Given the description of an element on the screen output the (x, y) to click on. 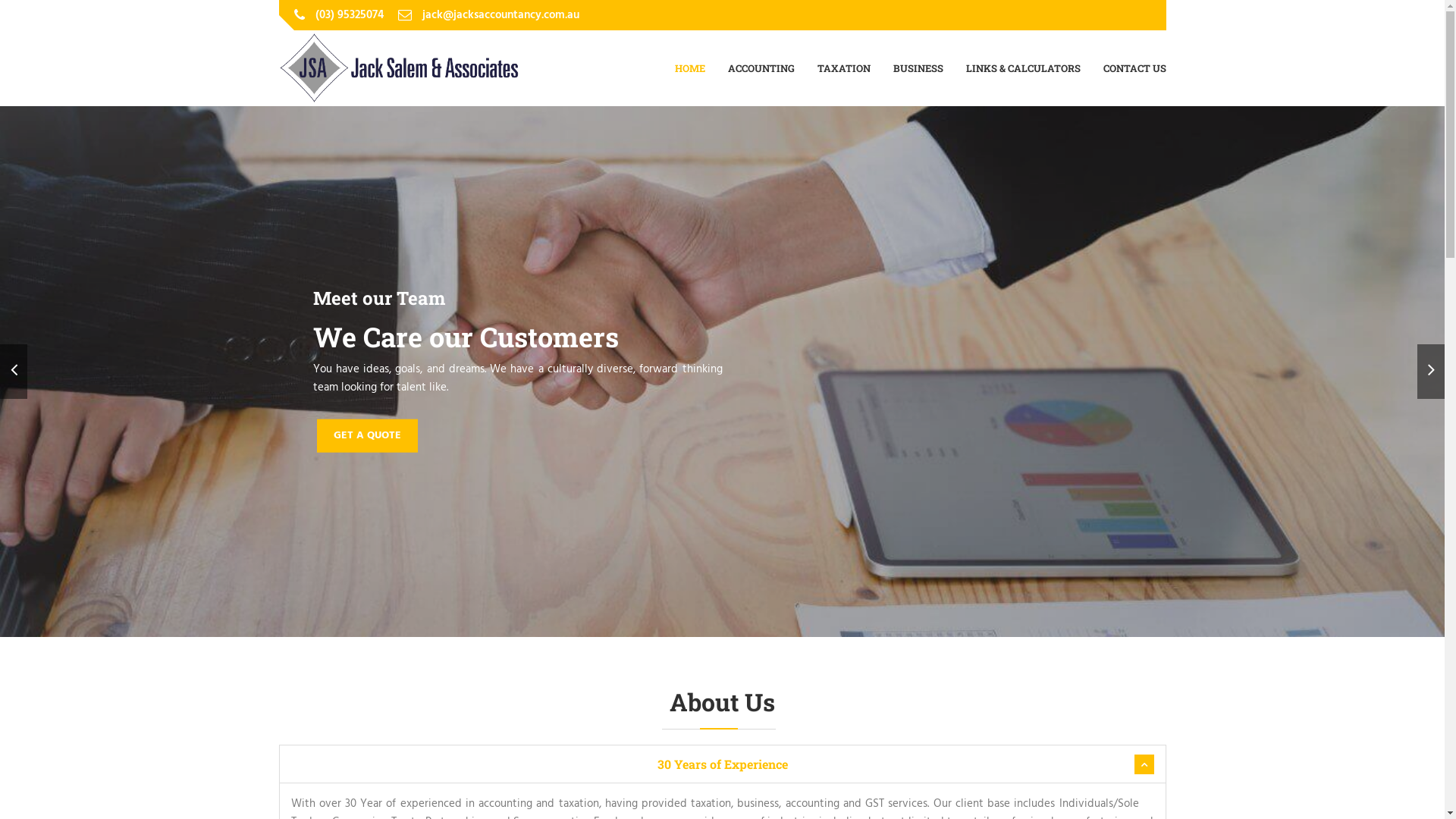
TAXATION Element type: text (843, 68)
GET A QUOTE Element type: text (366, 434)
jack@jacksaccountancy.com.au Element type: text (499, 15)
ACCOUNTING Element type: text (761, 68)
LINKS & CALCULATORS Element type: text (1023, 68)
(03) 95325074 Element type: text (349, 15)
30 Years of Experience Element type: text (721, 763)
CONTACT US Element type: text (1133, 68)
HOME Element type: text (689, 68)
BUSINESS Element type: text (918, 68)
